Given the description of an element on the screen output the (x, y) to click on. 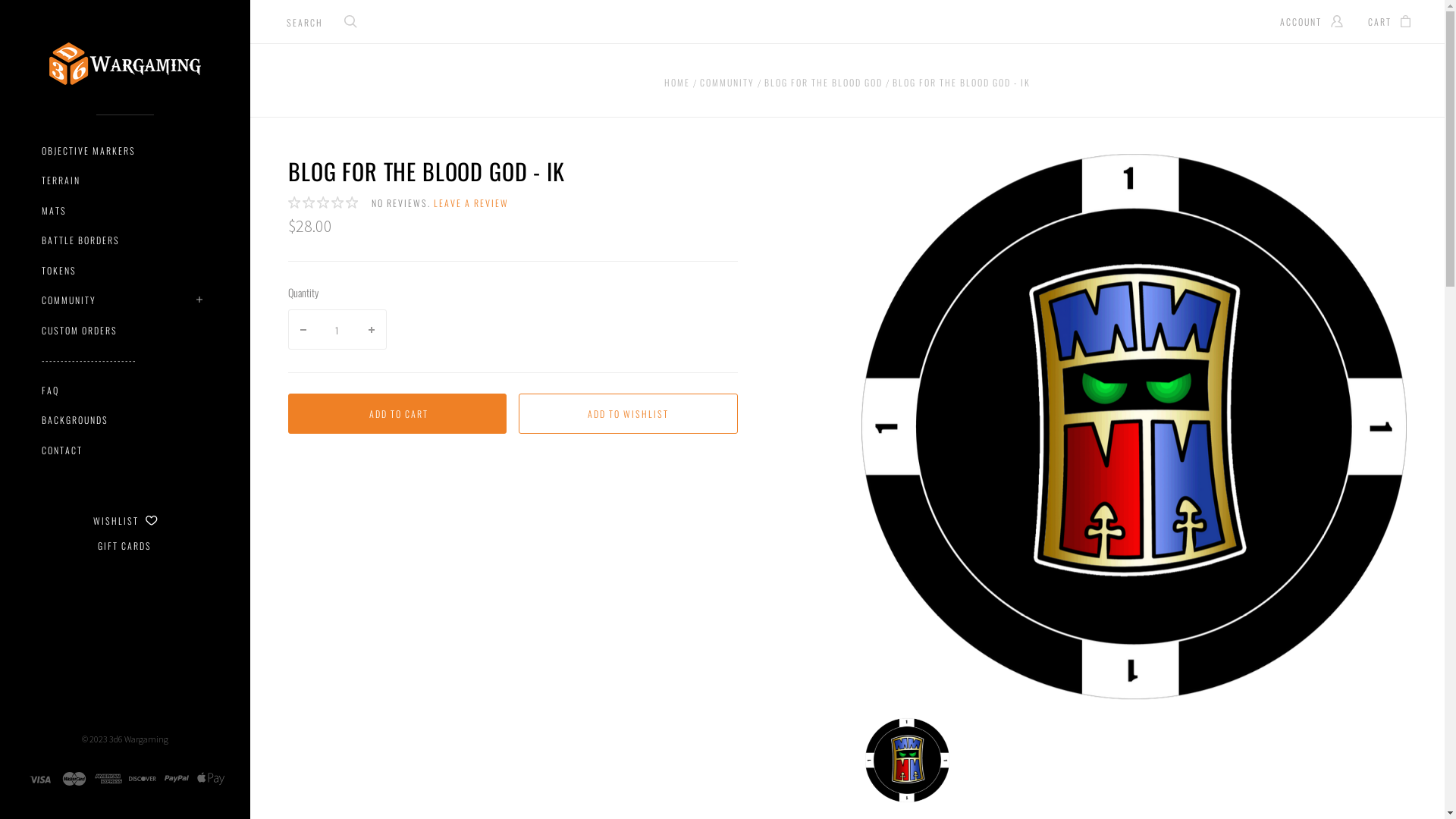
TERRAIN Element type: text (60, 180)
COMMUNITY Element type: text (728, 84)
FAQ Element type: text (50, 390)
Add to Wishlist Element type: text (627, 413)
TOKENS Element type: text (58, 270)
LEAVE A REVIEW Element type: text (470, 202)
CART Element type: text (1388, 21)
3d6 Wargaming Element type: text (138, 738)
OBJECTIVE MARKERS Element type: text (88, 150)
ACCOUNT Element type: text (1311, 21)
WISHLIST Element type: text (124, 520)
CONTACT Element type: text (61, 450)
Search Element type: text (350, 23)
HOME Element type: text (678, 84)
ADD TO CART Element type: text (397, 413)
COMMUNITY Element type: text (68, 300)
------------------------- Element type: text (88, 360)
GIFT CARDS Element type: text (124, 546)
MATS Element type: text (53, 210)
CUSTOM ORDERS Element type: text (79, 330)
BLOG FOR THE BLOOD GOD Element type: text (824, 84)
Blog for the Blood God - IK Element type: text (907, 760)
BATTLE BORDERS Element type: text (80, 240)
BLOG FOR THE BLOOD GOD - IK Element type: text (961, 84)
BACKGROUNDS Element type: text (74, 419)
